Given the description of an element on the screen output the (x, y) to click on. 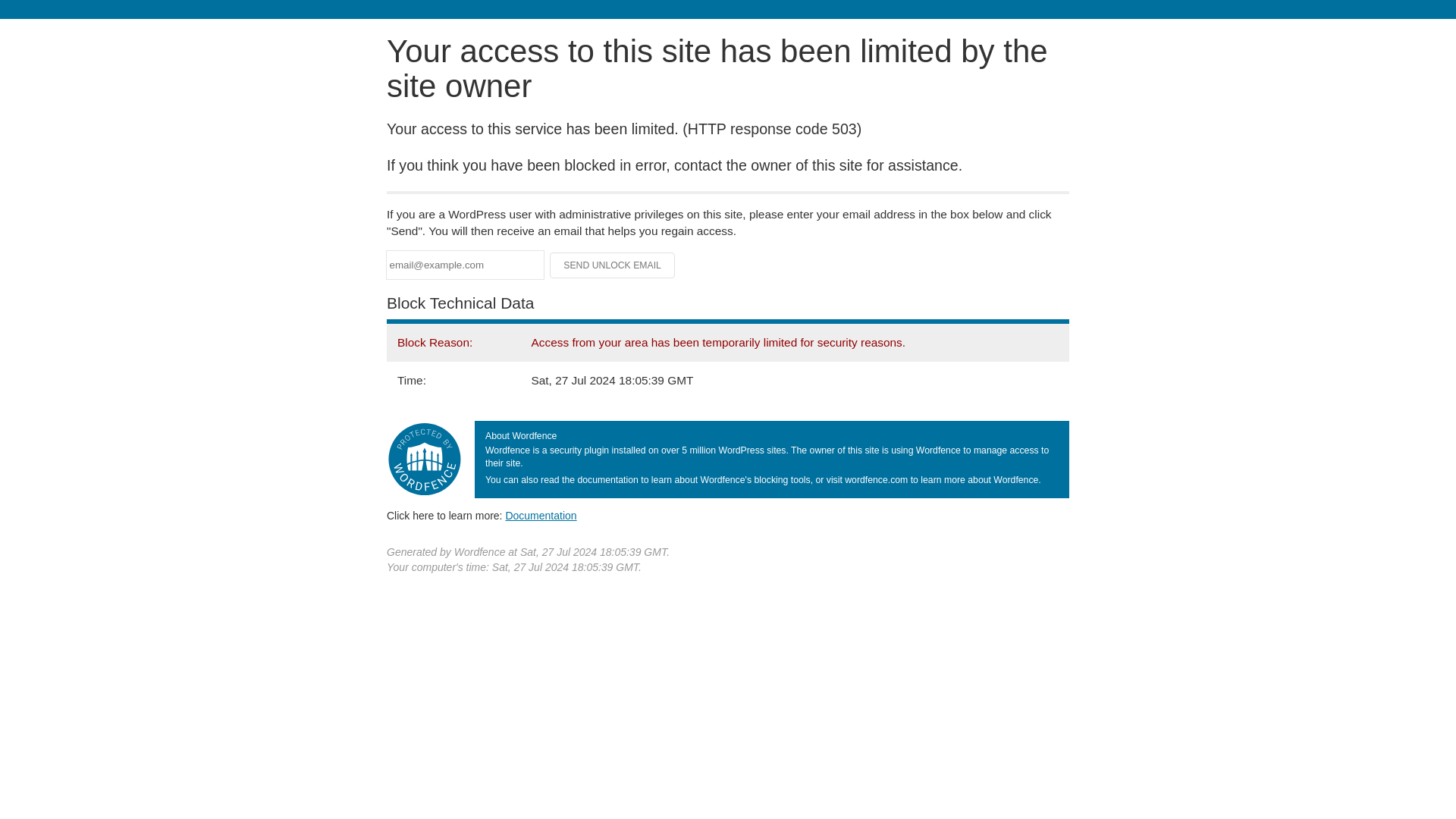
Send Unlock Email (612, 265)
Send Unlock Email (612, 265)
Documentation (540, 515)
